Given the description of an element on the screen output the (x, y) to click on. 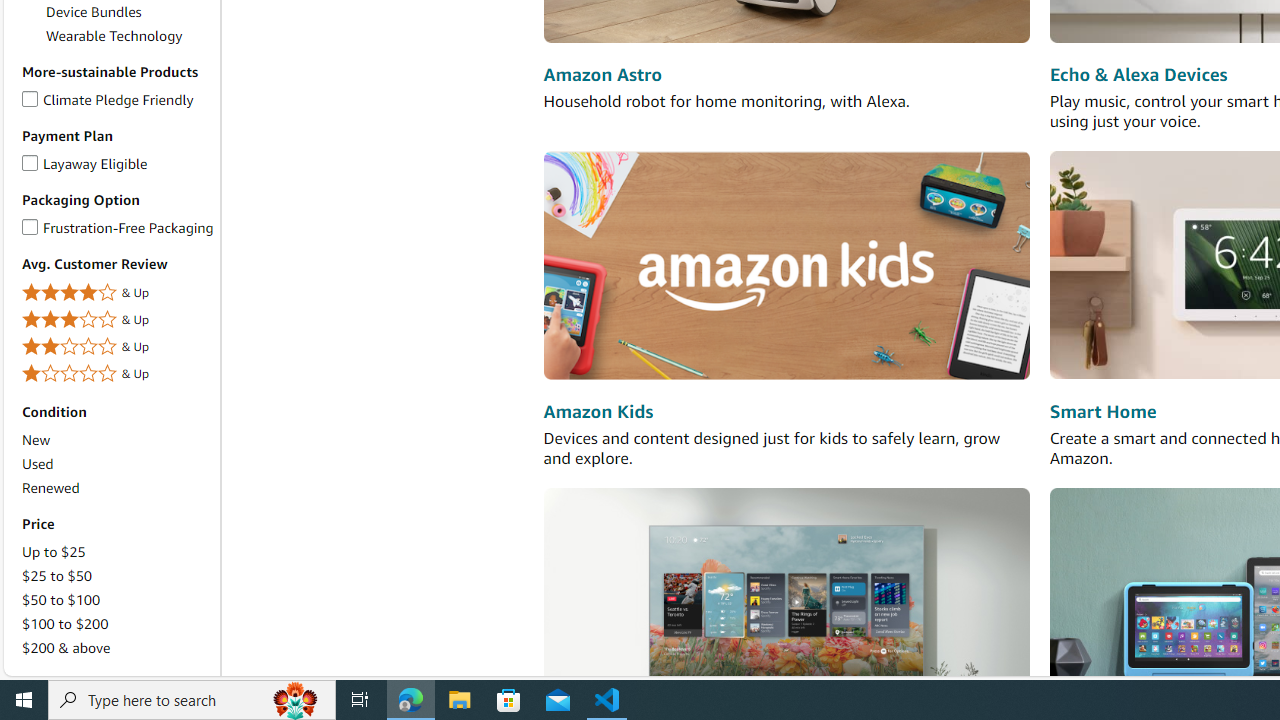
Renewed (50, 487)
Layaway Eligible (29, 159)
Frustration-Free Packaging (29, 223)
Fire TV devices (786, 600)
Layaway EligibleLayaway Eligible (117, 164)
Climate Pledge FriendlyClimate Pledge Friendly (117, 100)
$25 to $50 (57, 575)
2 Stars & Up& Up (117, 347)
Device Bundles (129, 12)
Climate Pledge Friendly (29, 95)
Wearable Technology (129, 35)
Climate Pledge Friendly Climate Pledge Friendly (107, 98)
Wearable Technology (114, 35)
Layaway Eligible Layaway Eligible (84, 162)
Frustration-Free PackagingFrustration-Free Packaging (117, 228)
